Given the description of an element on the screen output the (x, y) to click on. 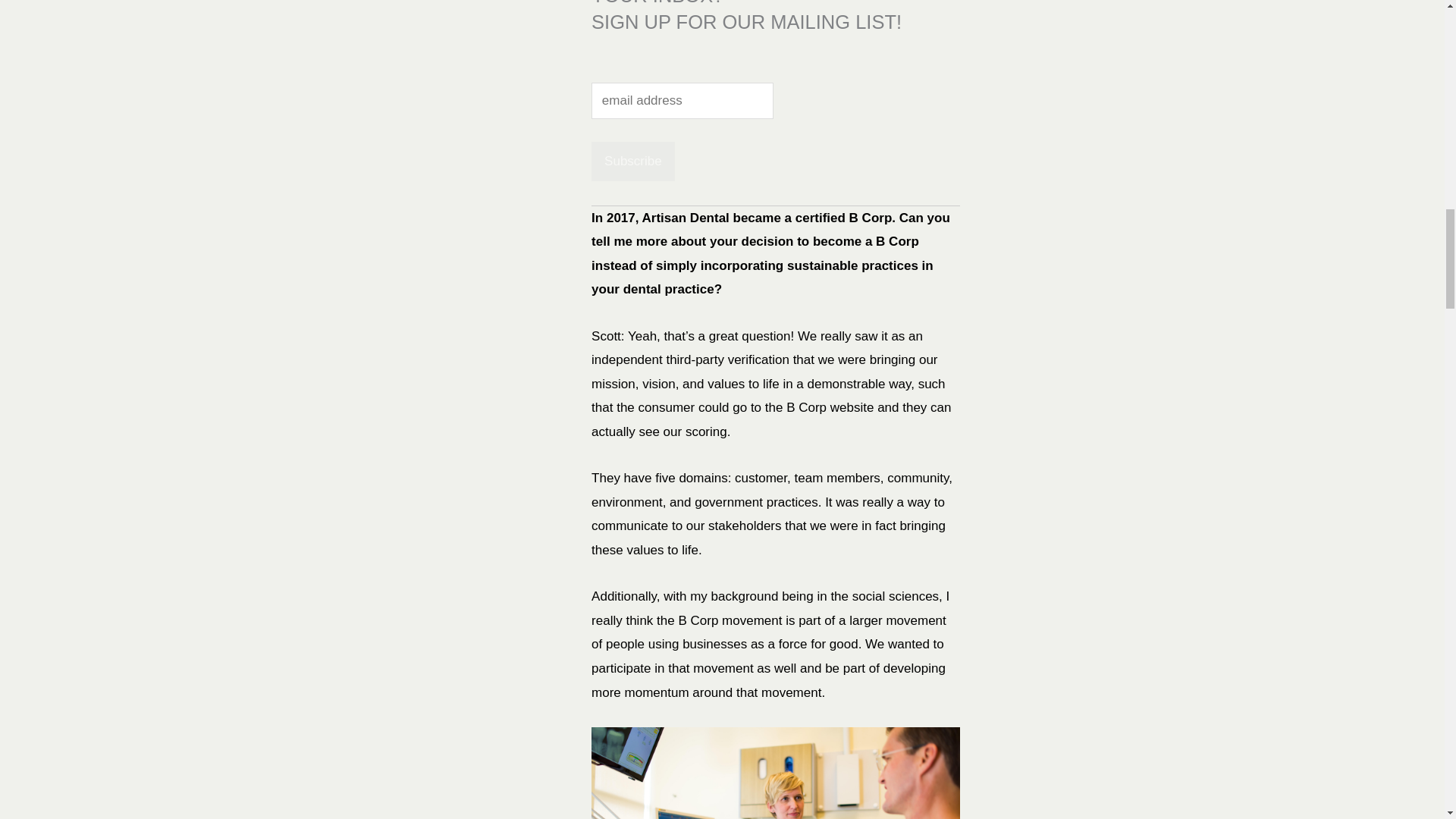
Subscribe (633, 161)
